Given the description of an element on the screen output the (x, y) to click on. 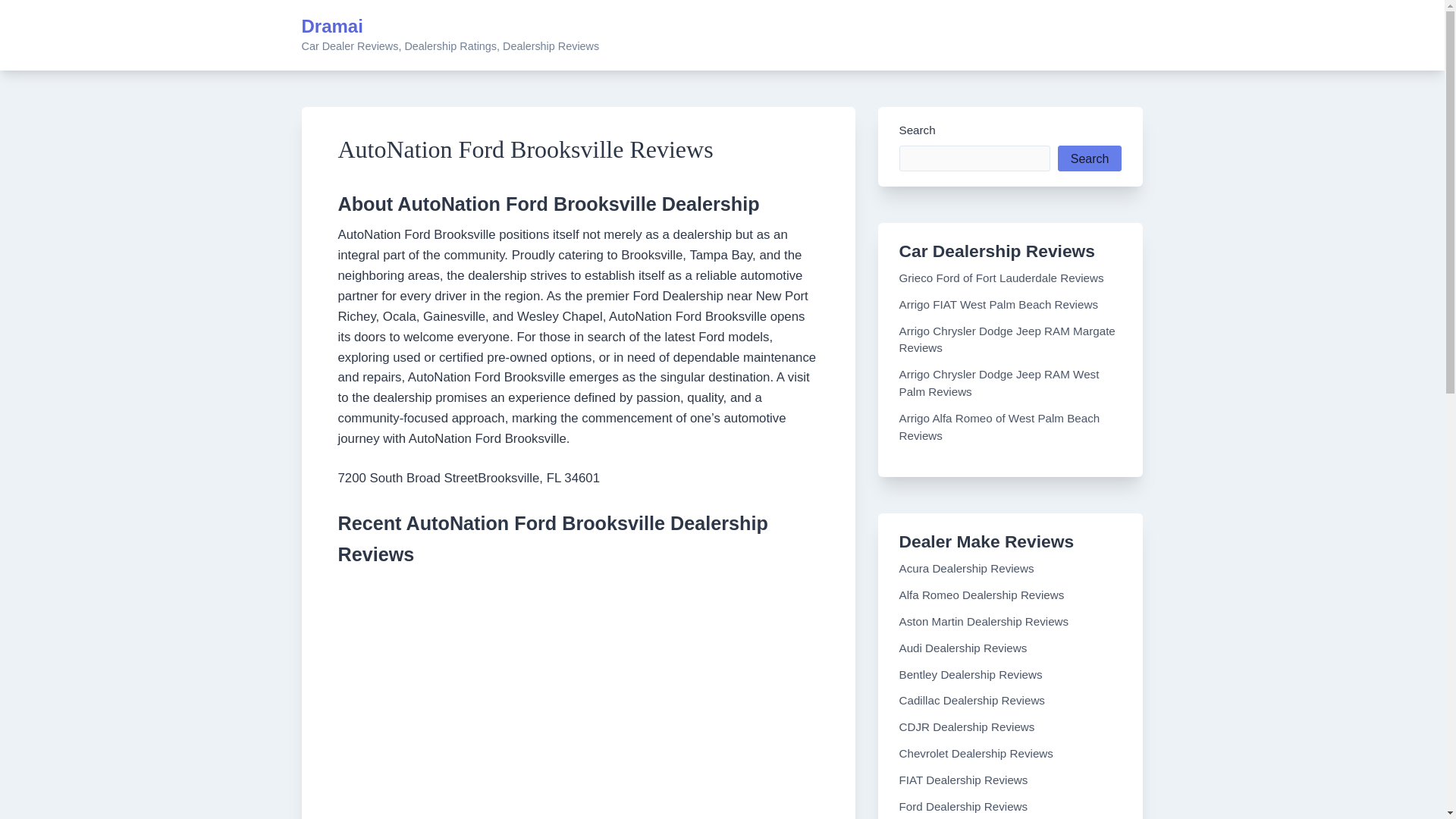
Acura Dealership Reviews (966, 567)
Cadillac Dealership Reviews (972, 699)
FIAT Dealership Reviews (963, 779)
Arrigo Chrysler Dodge Jeep RAM Margate Reviews (1007, 339)
Chevrolet Dealership Reviews (975, 753)
CDJR Dealership Reviews (967, 726)
Alfa Romeo Dealership Reviews (981, 594)
Aston Martin Dealership Reviews (983, 621)
Arrigo FIAT West Palm Beach Reviews (999, 304)
Dramai (331, 25)
